Given the description of an element on the screen output the (x, y) to click on. 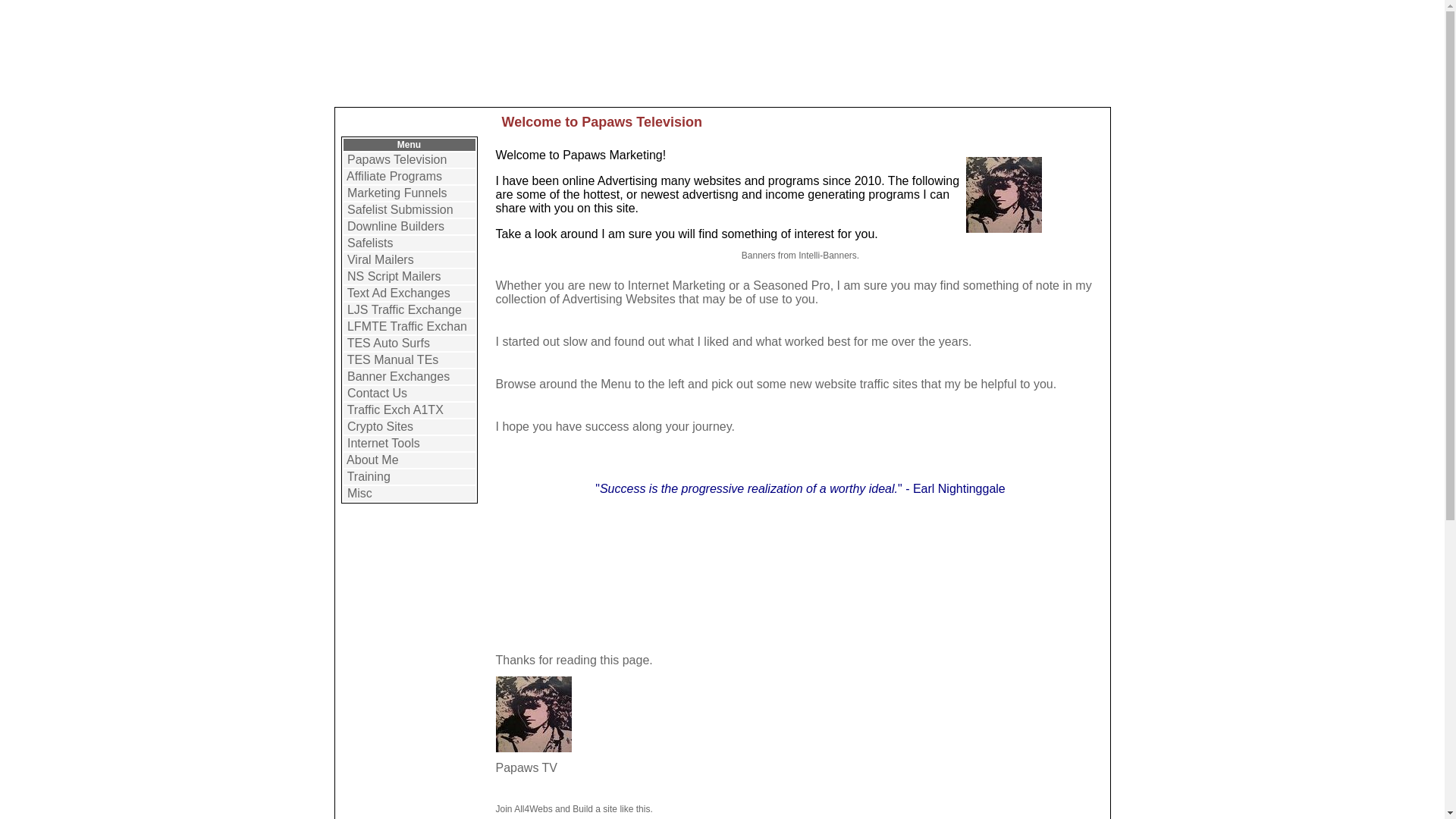
Internet Tools (383, 442)
Contact Us (377, 392)
TES Auto Surfs (388, 342)
Downline Builders (395, 226)
LFMTE Traffic Exchan (407, 326)
Safelists (370, 242)
Misc (359, 492)
Affiliate Programs (394, 175)
Banner Exchanges (398, 376)
Traffic Exch A1TX (395, 409)
